Given the description of an element on the screen output the (x, y) to click on. 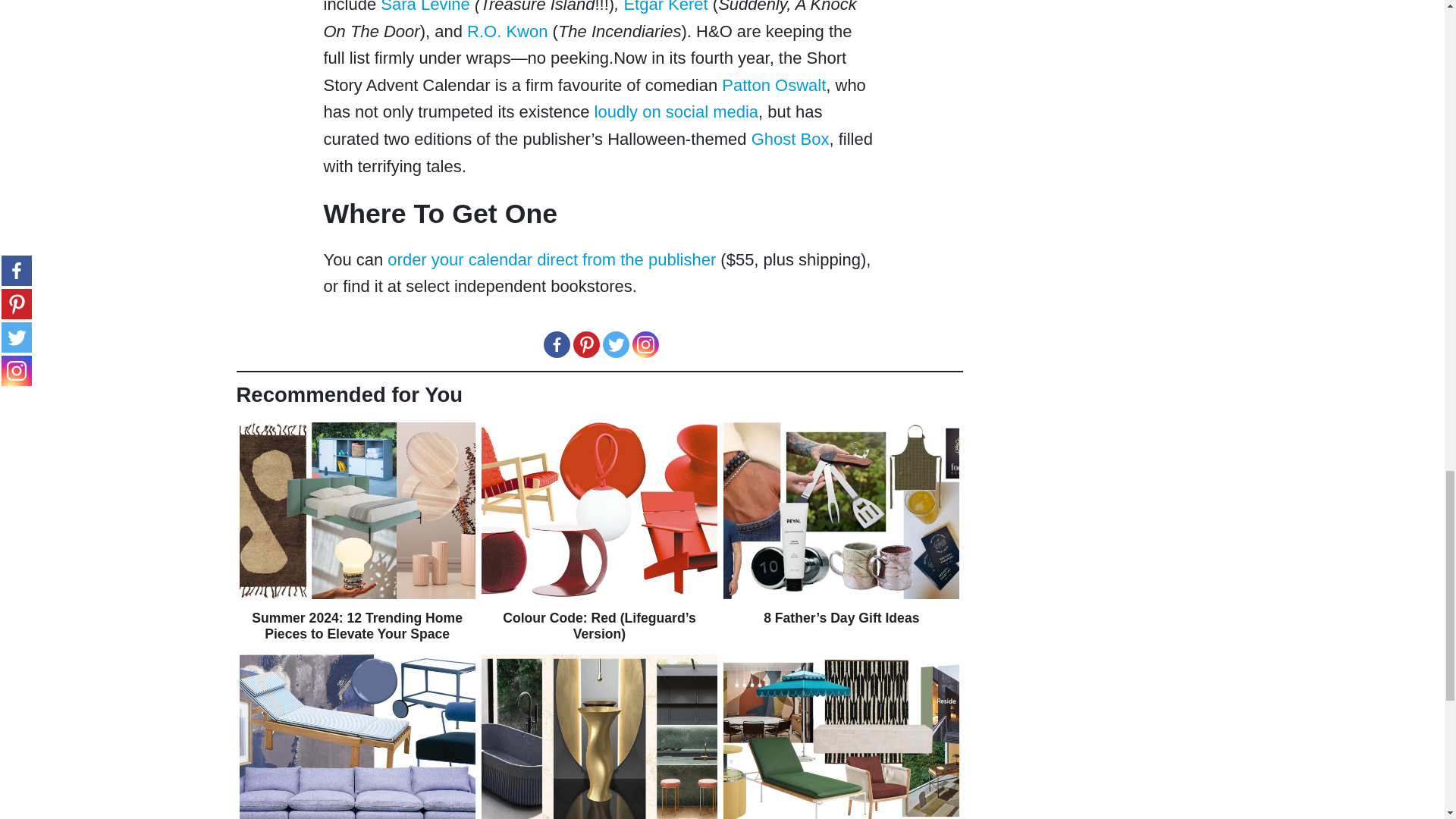
Facebook (556, 344)
Twitter (615, 344)
Instagram (645, 344)
Pinterest (586, 344)
